Given the description of an element on the screen output the (x, y) to click on. 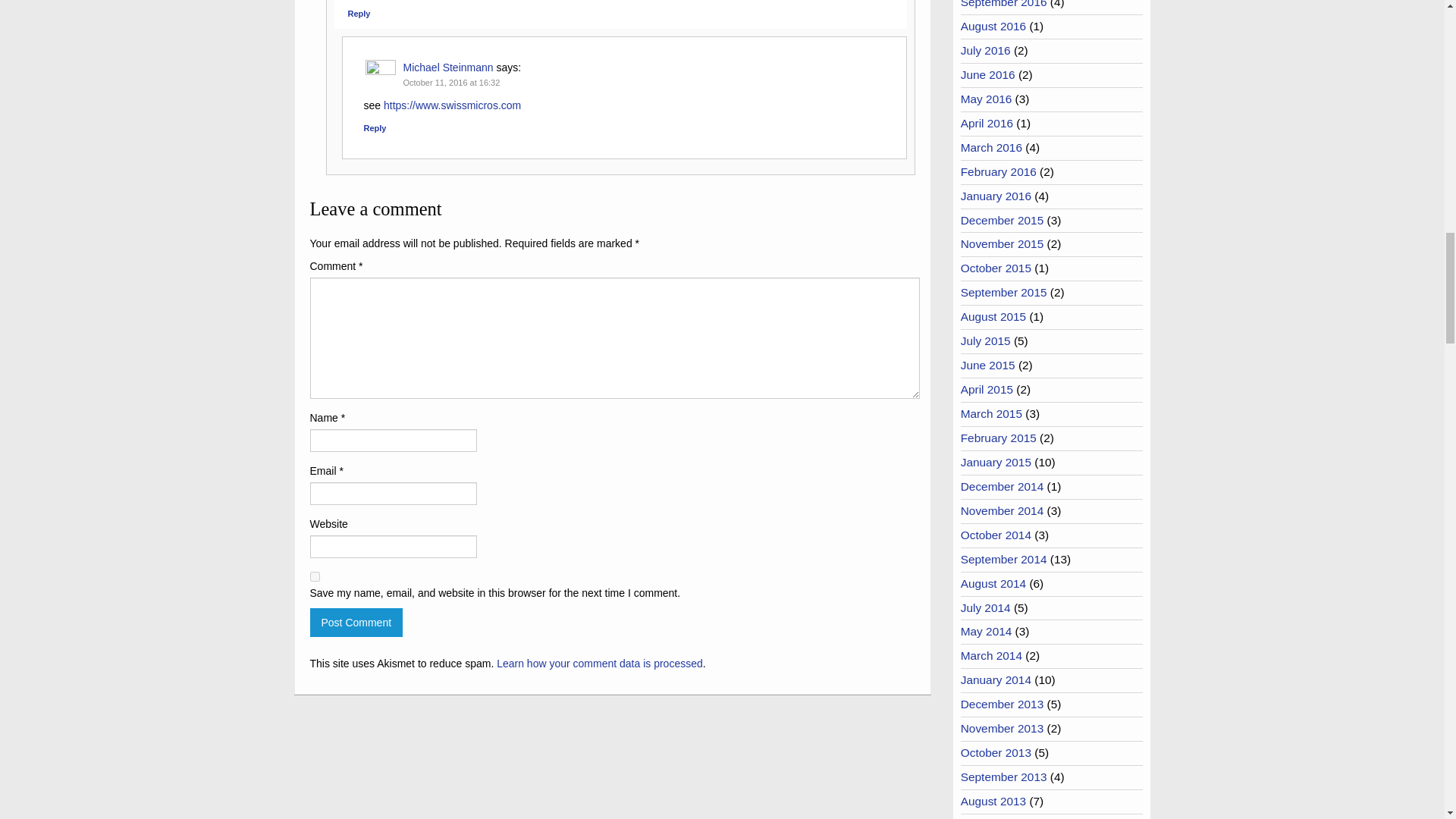
Post Comment (355, 622)
yes (313, 576)
